Given the description of an element on the screen output the (x, y) to click on. 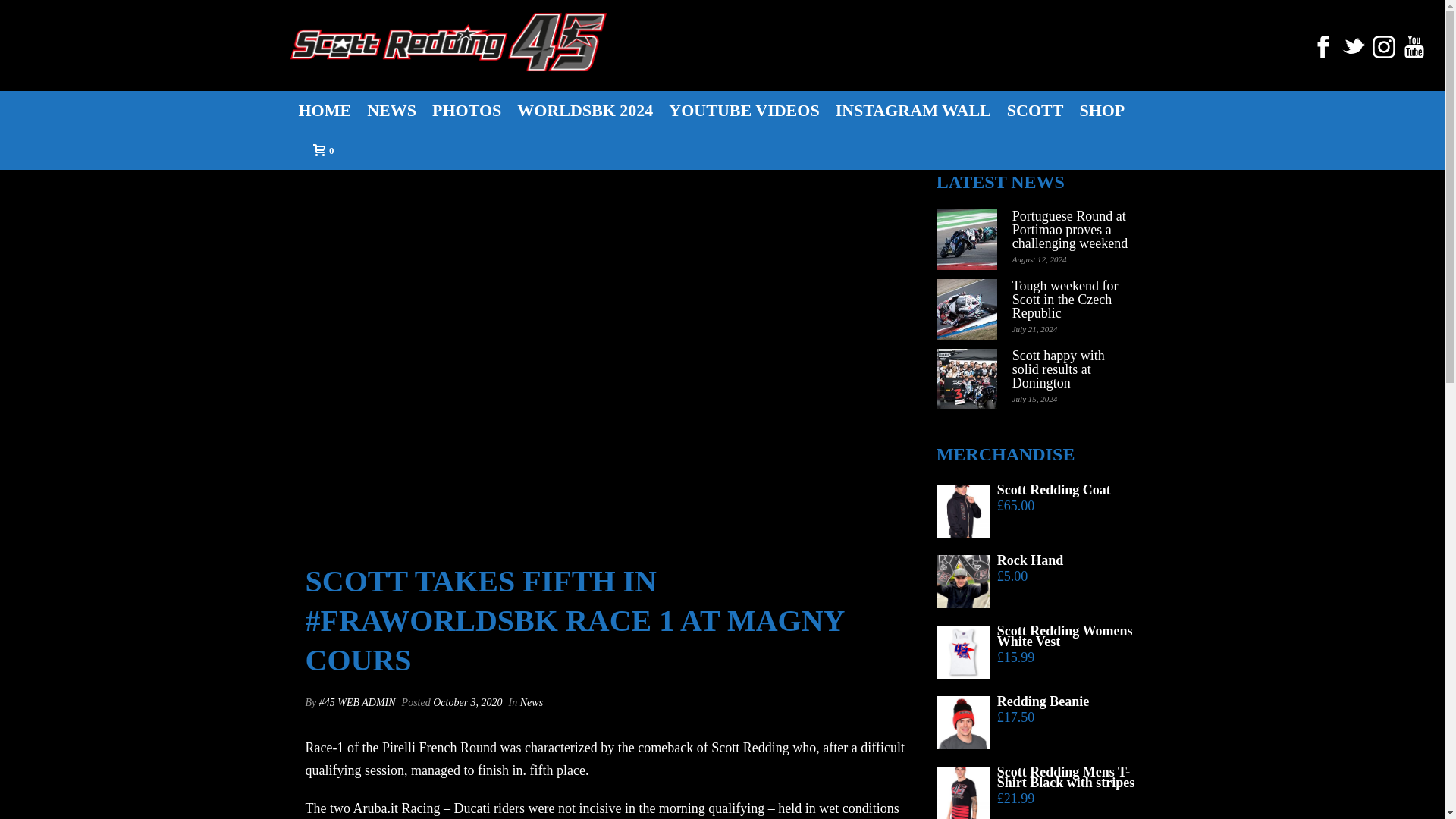
October 3, 2020 (467, 702)
INSTAGRAM WALL (913, 109)
WORLDSBK 2024 (585, 109)
Scott Redding Womens White Vest (1038, 636)
Tough weekend for Scott in the Czech Republic (1071, 299)
PHOTOS (466, 109)
HOME (325, 109)
SCOTT (1034, 109)
HOME (325, 109)
YOUTUBE VIDEOS (744, 109)
